Given the description of an element on the screen output the (x, y) to click on. 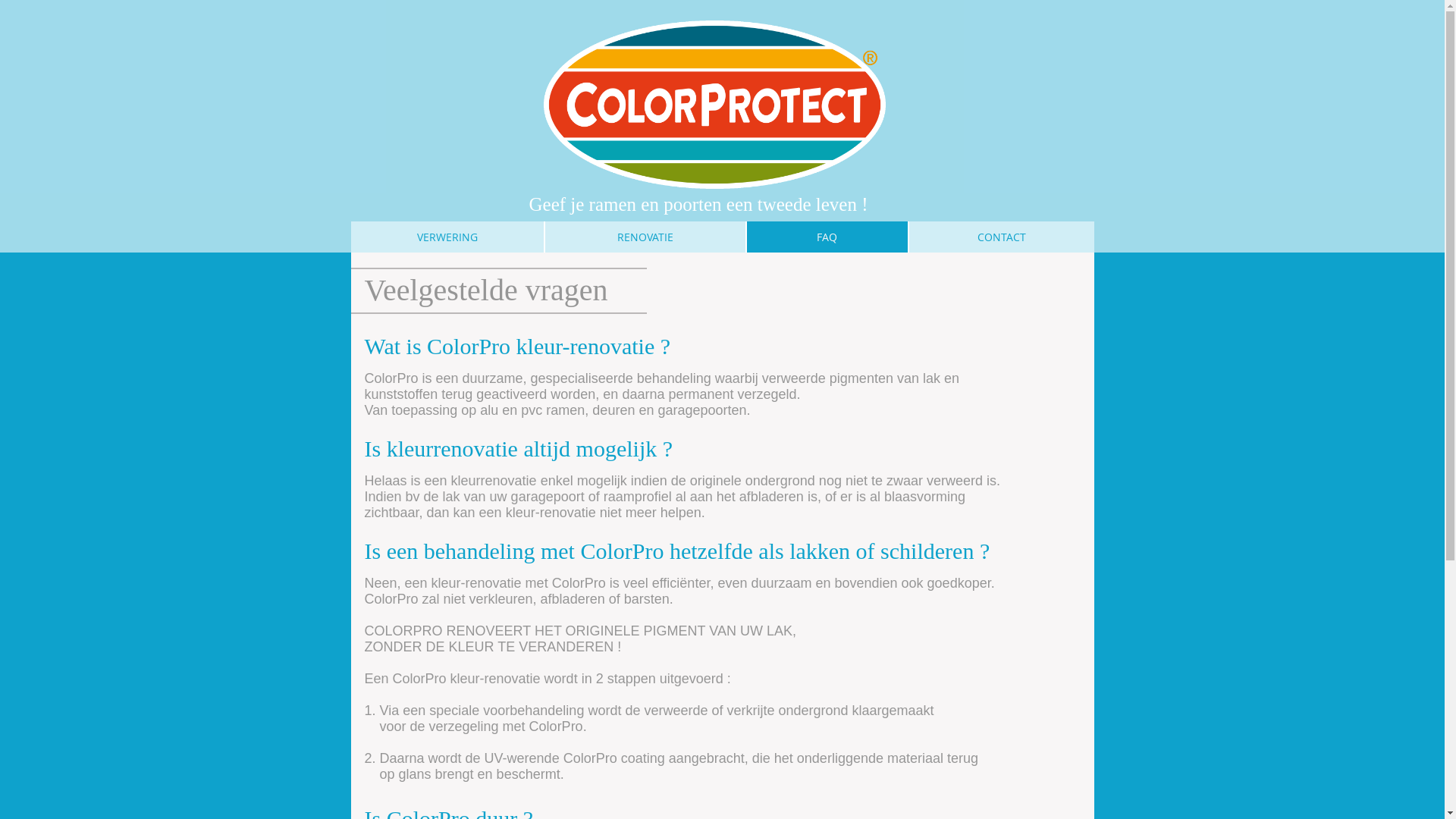
CONTACT Element type: text (1000, 236)
FAQ Element type: text (826, 236)
VERWERING Element type: text (446, 236)
RENOVATIE Element type: text (644, 236)
